Given the description of an element on the screen output the (x, y) to click on. 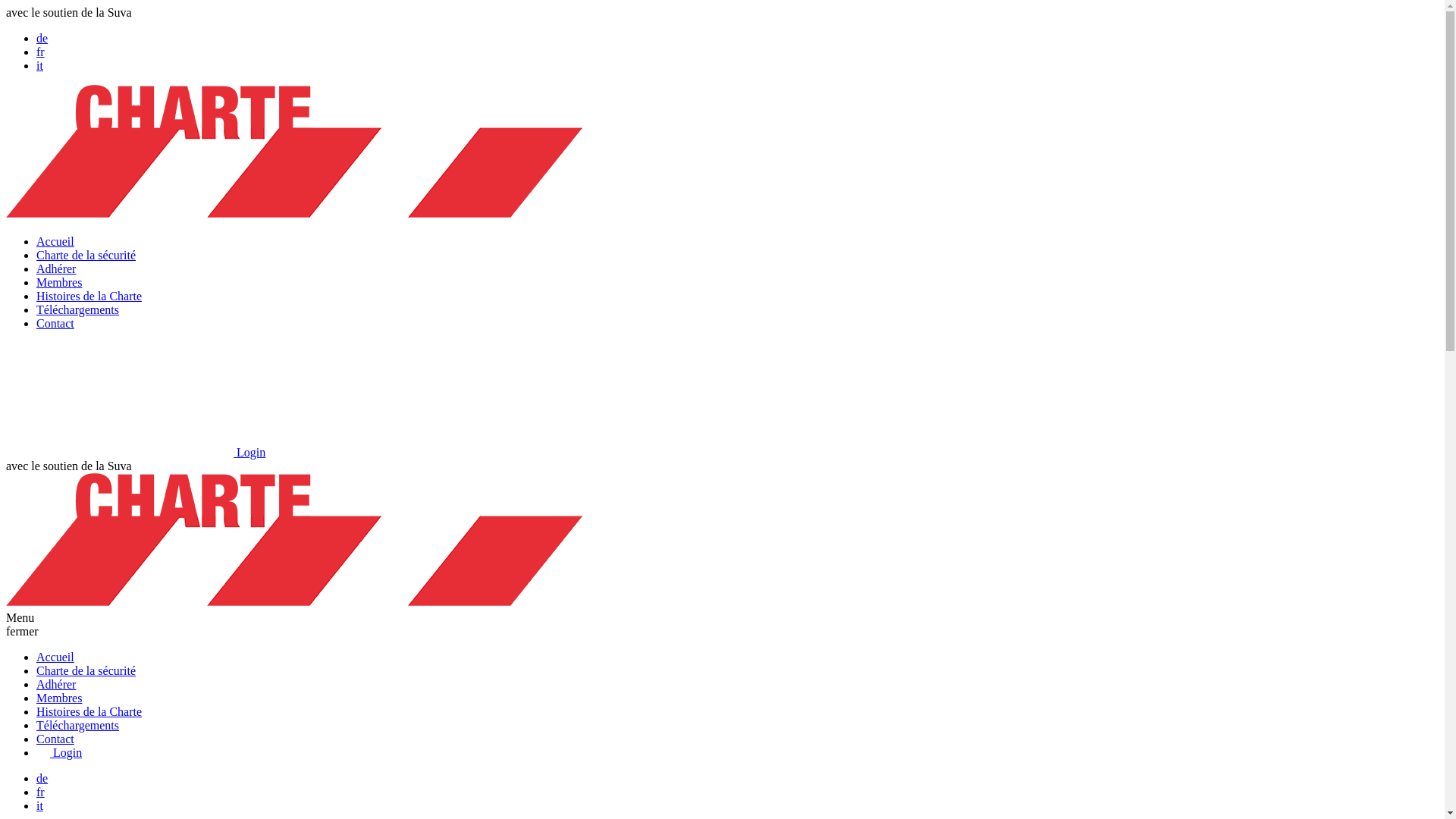
it Element type: text (39, 805)
Histoires de la Charte Element type: text (88, 295)
Membres Element type: text (58, 697)
Accueil Element type: text (55, 656)
fr Element type: text (40, 791)
de Element type: text (41, 37)
it Element type: text (39, 65)
de Element type: text (41, 777)
Accueil Element type: text (55, 241)
Histoires de la Charte Element type: text (88, 711)
fr Element type: text (40, 51)
Contact Element type: text (55, 322)
Login Element type: text (135, 451)
Login Element type: text (58, 752)
Membres Element type: text (58, 282)
Contact Element type: text (55, 738)
